Given the description of an element on the screen output the (x, y) to click on. 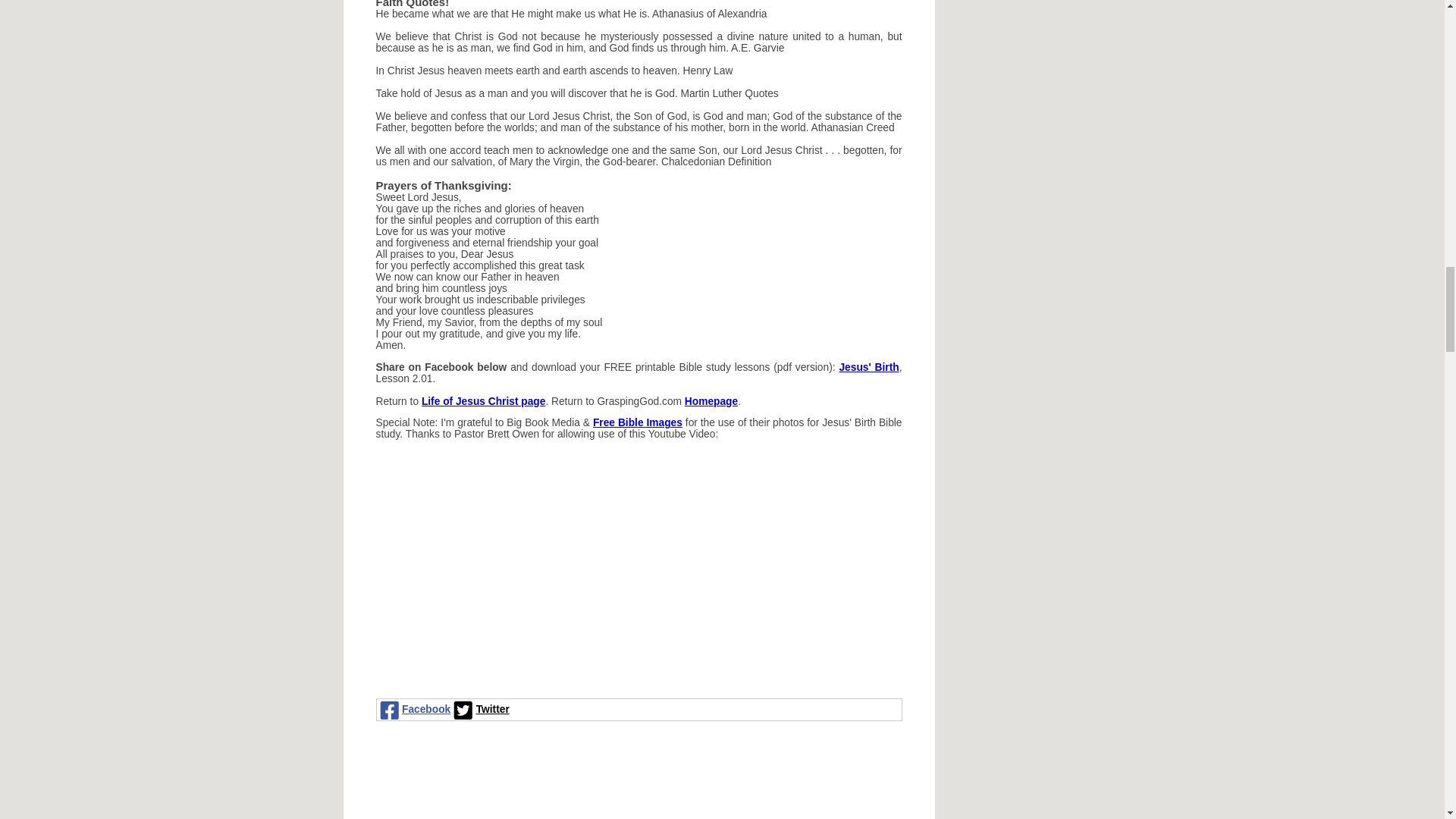
Facebook (412, 709)
Jesus' Birth (868, 367)
Free Bible Images (637, 422)
Homepage (711, 401)
Life of Jesus Christ page (484, 401)
Twitter (479, 709)
